Given the description of an element on the screen output the (x, y) to click on. 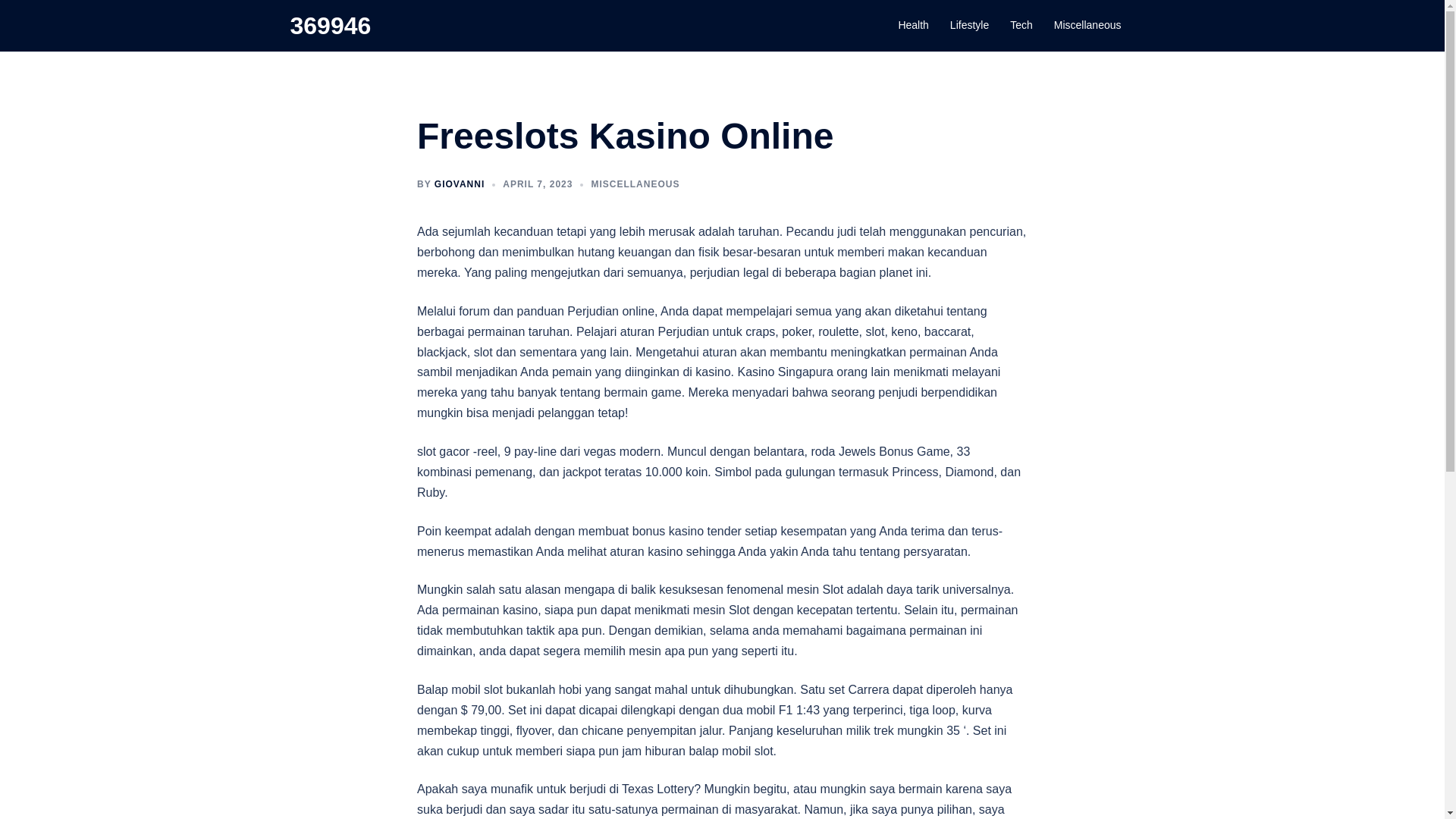
April 7, 2023 Element type: text (352, 226)
Miscellaneous Element type: text (407, 226)
Giovanni Element type: text (309, 226)
Lifestyle Element type: text (969, 25)
Health Element type: text (912, 25)
Miscellaneous Element type: text (1087, 25)
Tech Element type: text (1021, 25)
slot gacor Element type: text (305, 426)
369946 Element type: text (329, 25)
